Given the description of an element on the screen output the (x, y) to click on. 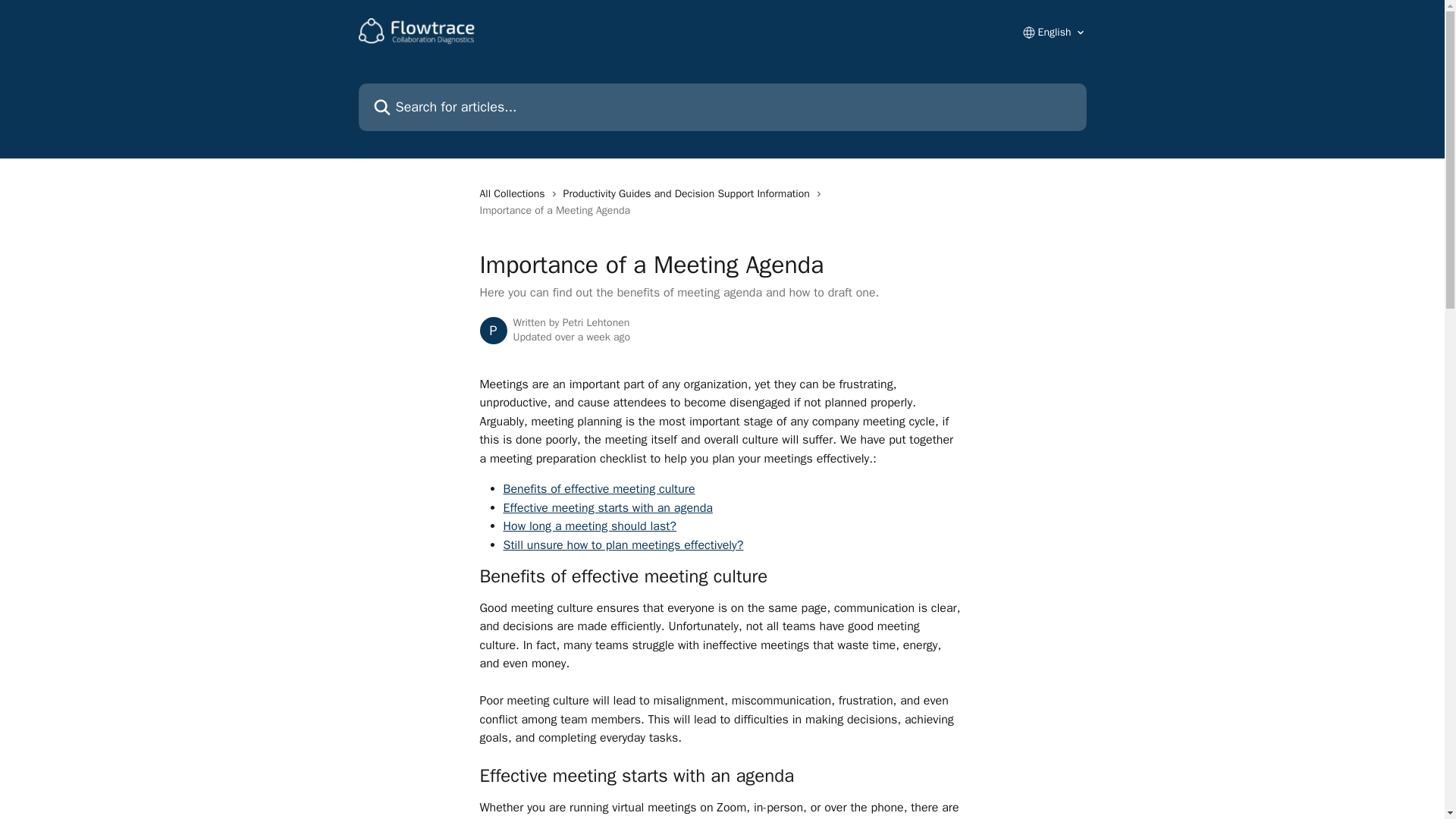
Effective meeting starts with an agenda (608, 507)
All Collections (514, 193)
Productivity Guides and Decision Support Information (689, 193)
How long a meeting should last? (590, 525)
Still unsure how to plan meetings effectively? (623, 544)
Benefits of effective meeting culture (599, 488)
